Given the description of an element on the screen output the (x, y) to click on. 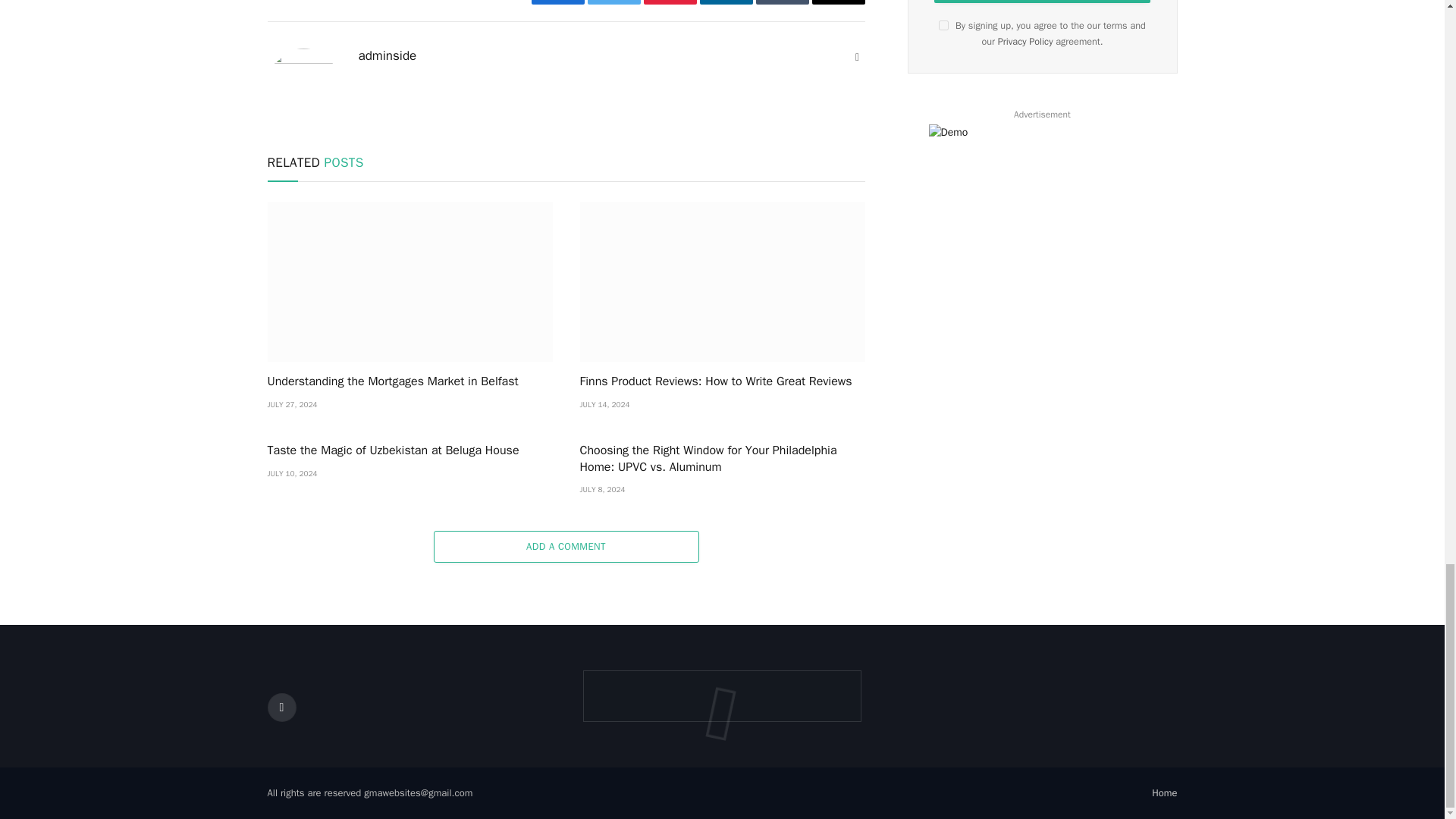
Subscribe (1042, 1)
on (944, 25)
